Given the description of an element on the screen output the (x, y) to click on. 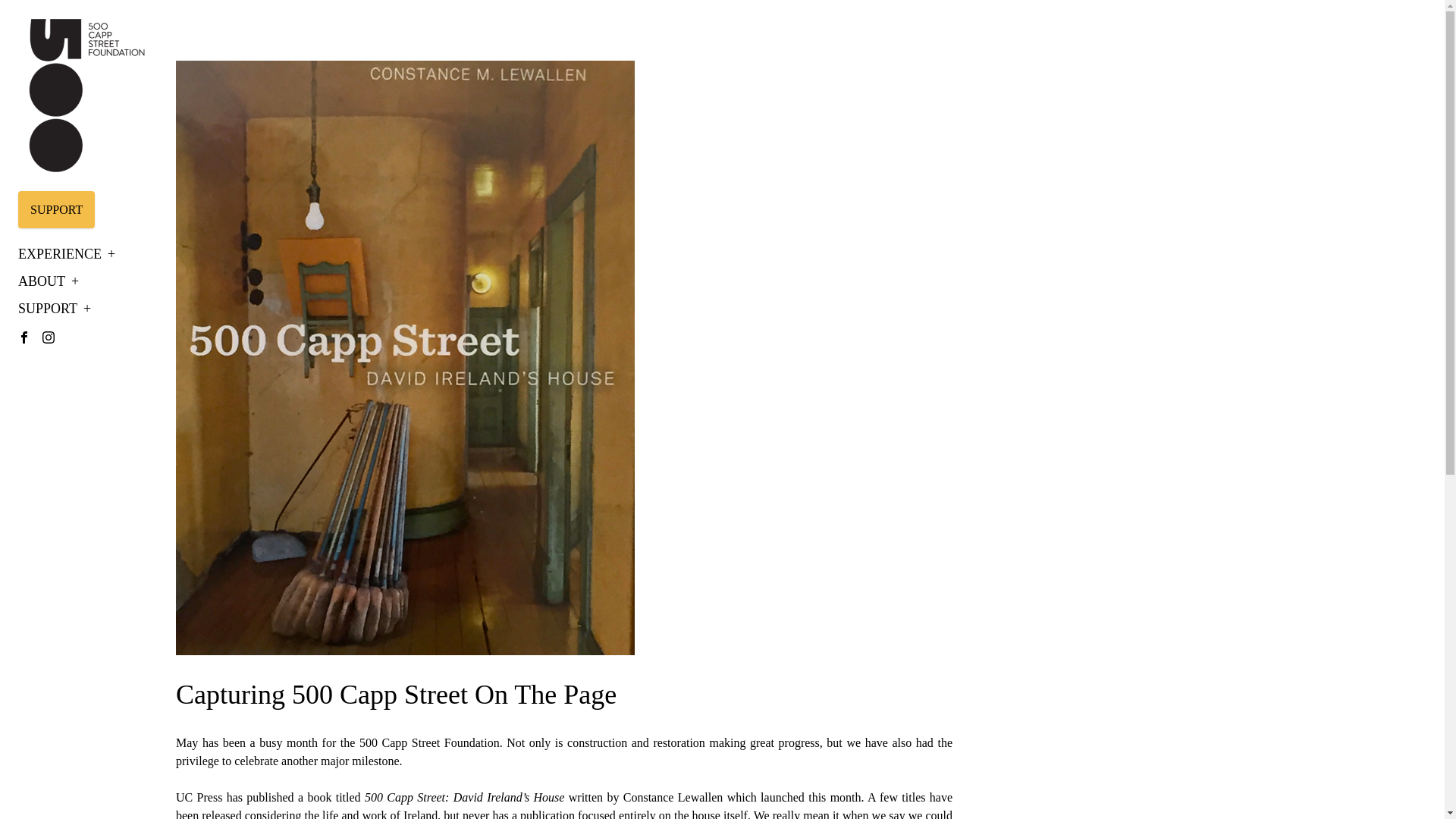
ABOUT (47, 281)
EXPERIENCE (66, 253)
SUPPORT (53, 308)
SUPPORT (55, 209)
